Given the description of an element on the screen output the (x, y) to click on. 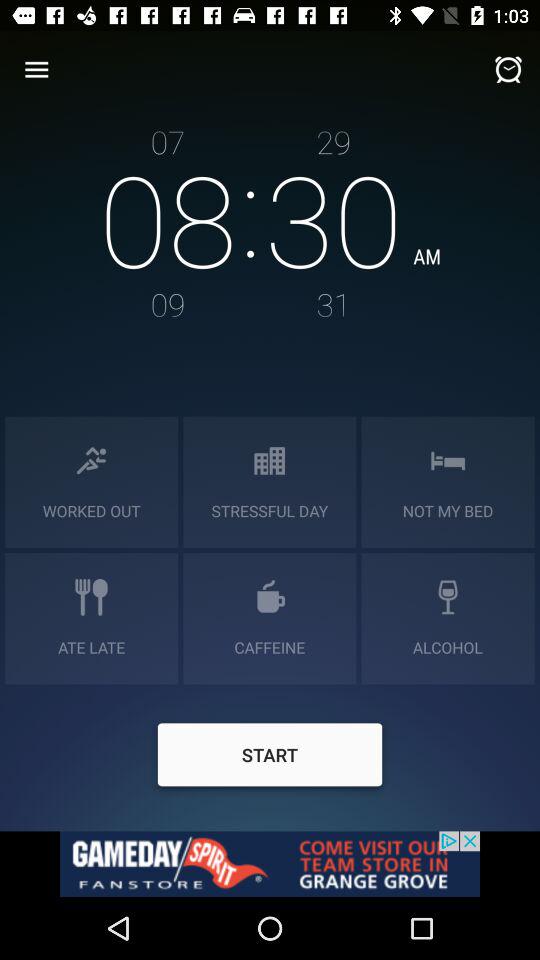
select image above text worked out (91, 460)
click on start (269, 757)
click on icon with glass (448, 597)
